Given the description of an element on the screen output the (x, y) to click on. 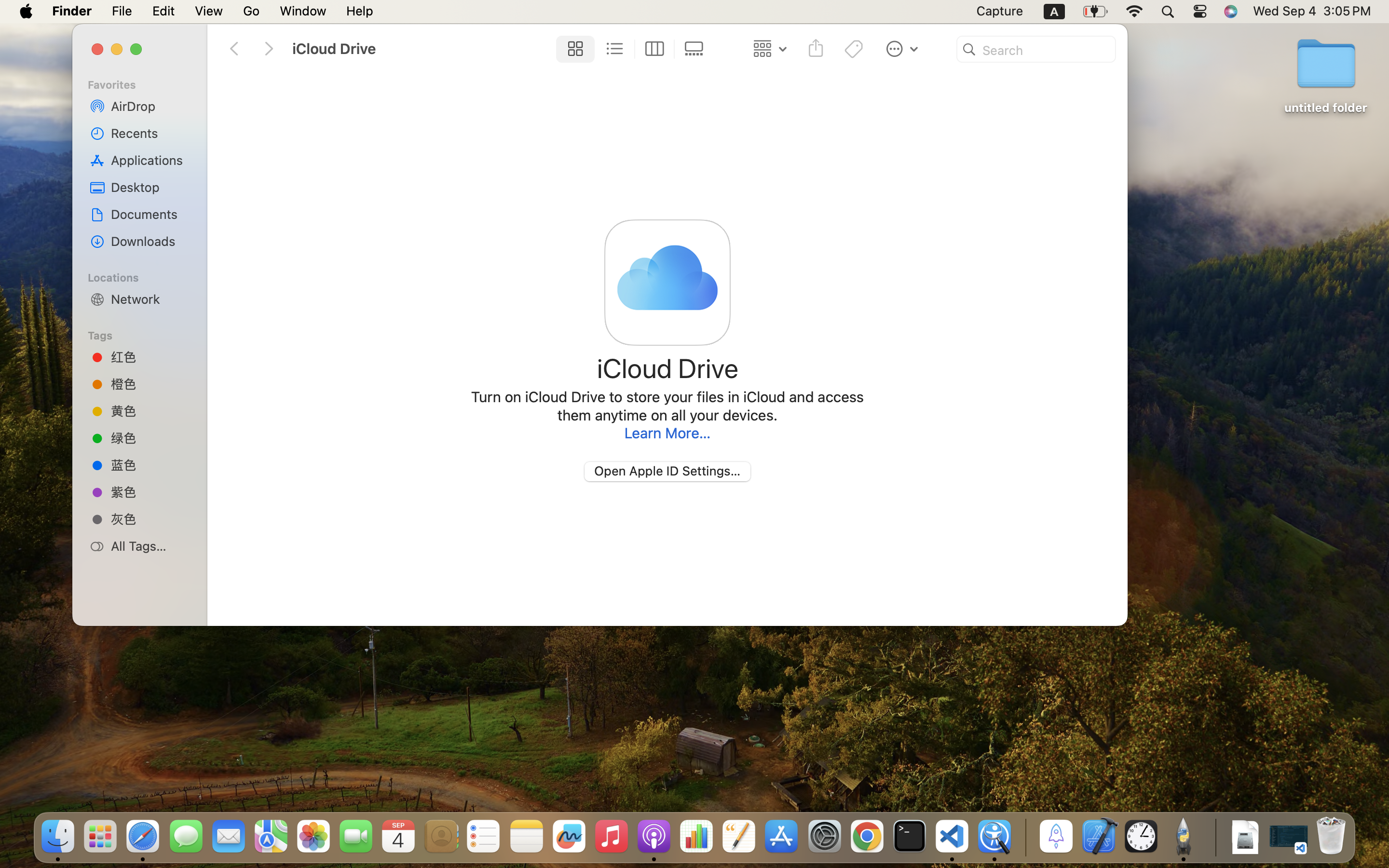
1 Element type: AXRadioButton (572, 48)
橙色 Element type: AXStaticText (149, 383)
Downloads Element type: AXStaticText (149, 240)
Desktop Element type: AXStaticText (149, 186)
黄色 Element type: AXStaticText (149, 410)
